Given the description of an element on the screen output the (x, y) to click on. 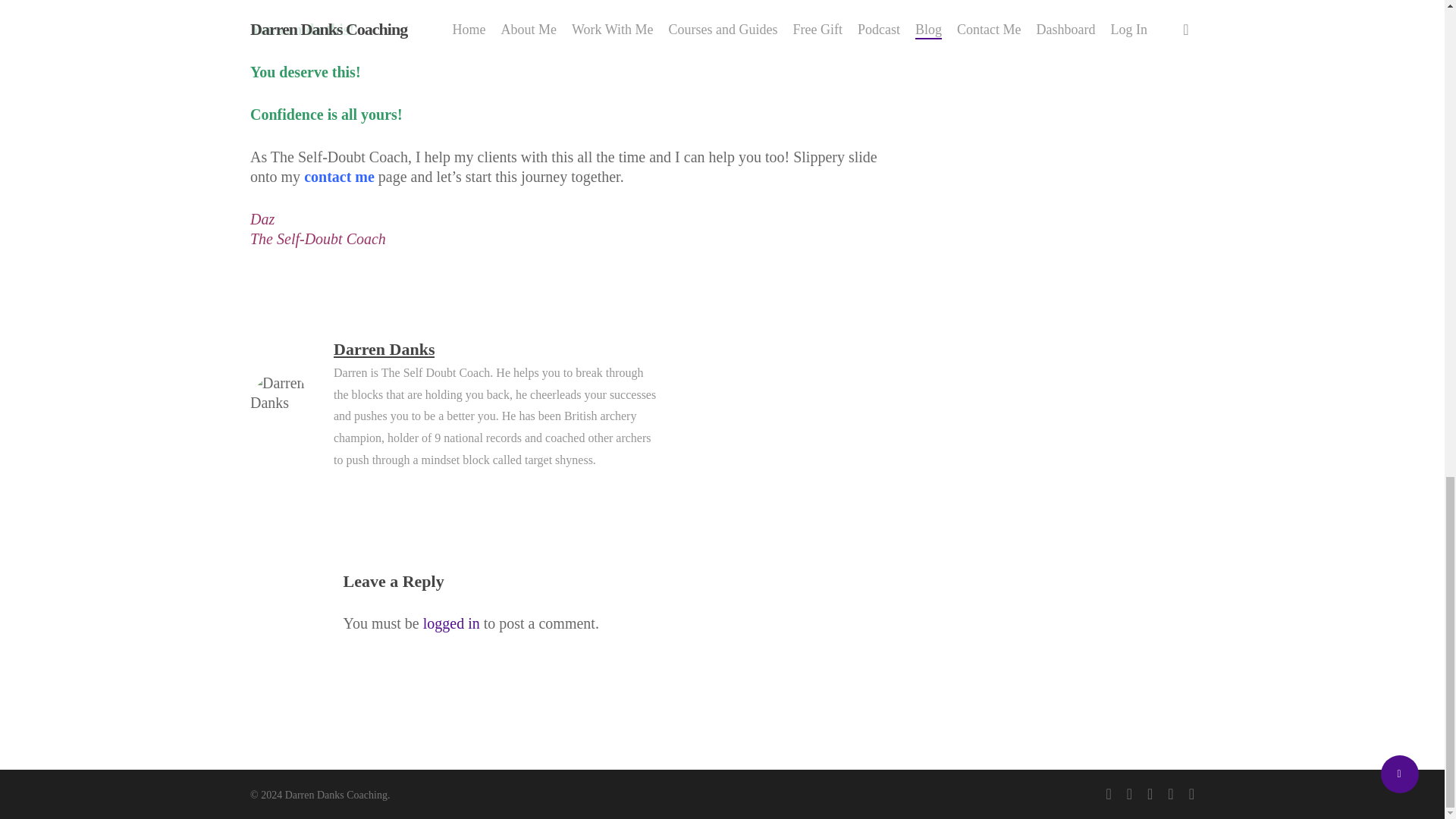
Darren Danks (383, 348)
contact me (339, 176)
logged in (451, 623)
